Given the description of an element on the screen output the (x, y) to click on. 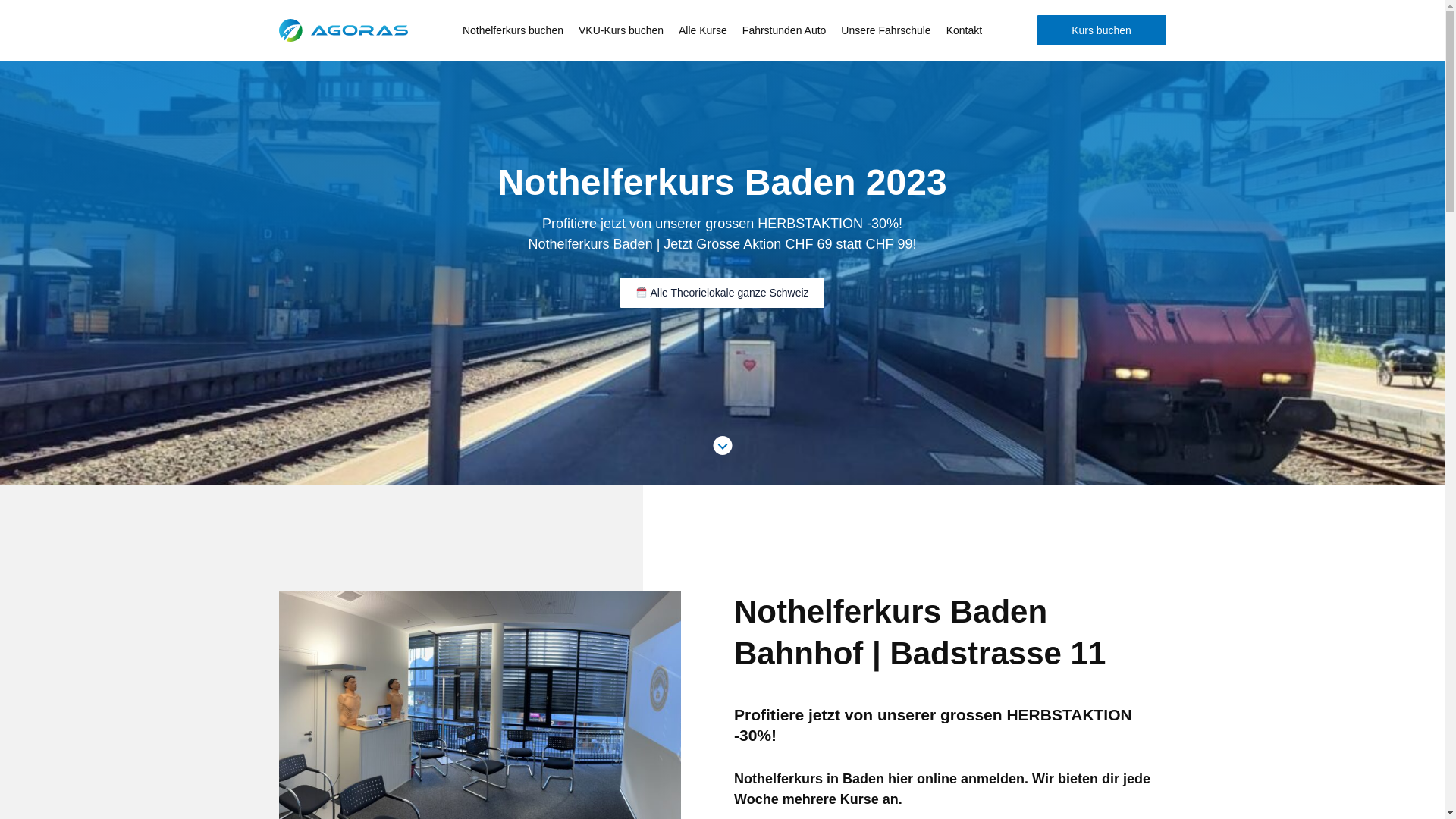
Alle Theorielokale ganze Schweiz Element type: text (721, 292)
Kurs buchen Element type: text (1101, 30)
Nothelferkurs buchen Element type: text (512, 30)
Fahrstunden Auto Element type: text (784, 30)
Scroll down Element type: hover (721, 445)
VKU-Kurs buchen Element type: text (620, 30)
Unsere Fahrschule Element type: text (885, 30)
Alle Kurse Element type: text (702, 30)
Kontakt Element type: text (964, 30)
